Given the description of an element on the screen output the (x, y) to click on. 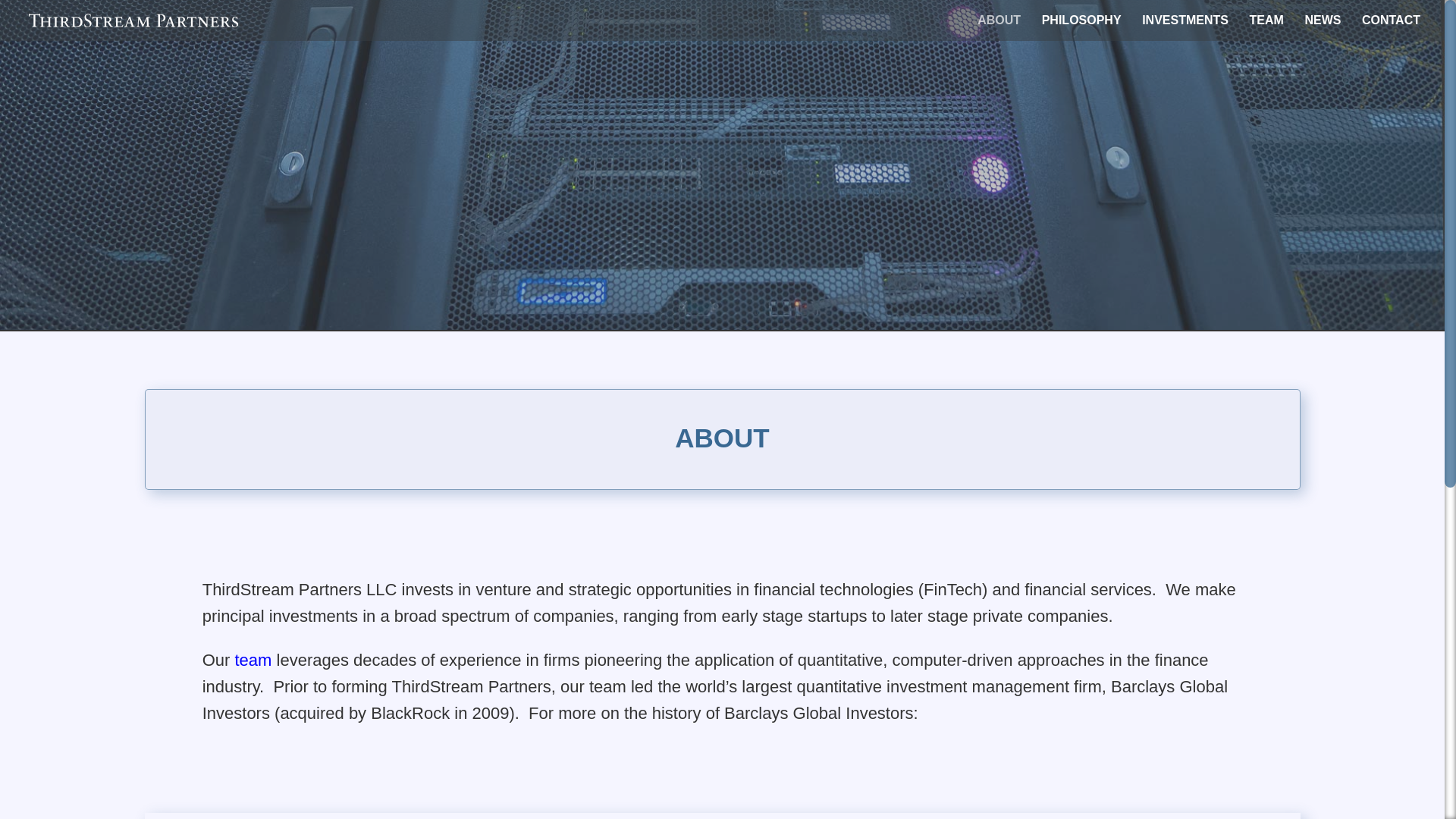
CONTACT (1391, 27)
ABOUT (998, 27)
TEAM (1266, 27)
team (252, 659)
NEWS (1322, 27)
INVESTMENTS (1184, 27)
PHILOSOPHY (1081, 27)
